Given the description of an element on the screen output the (x, y) to click on. 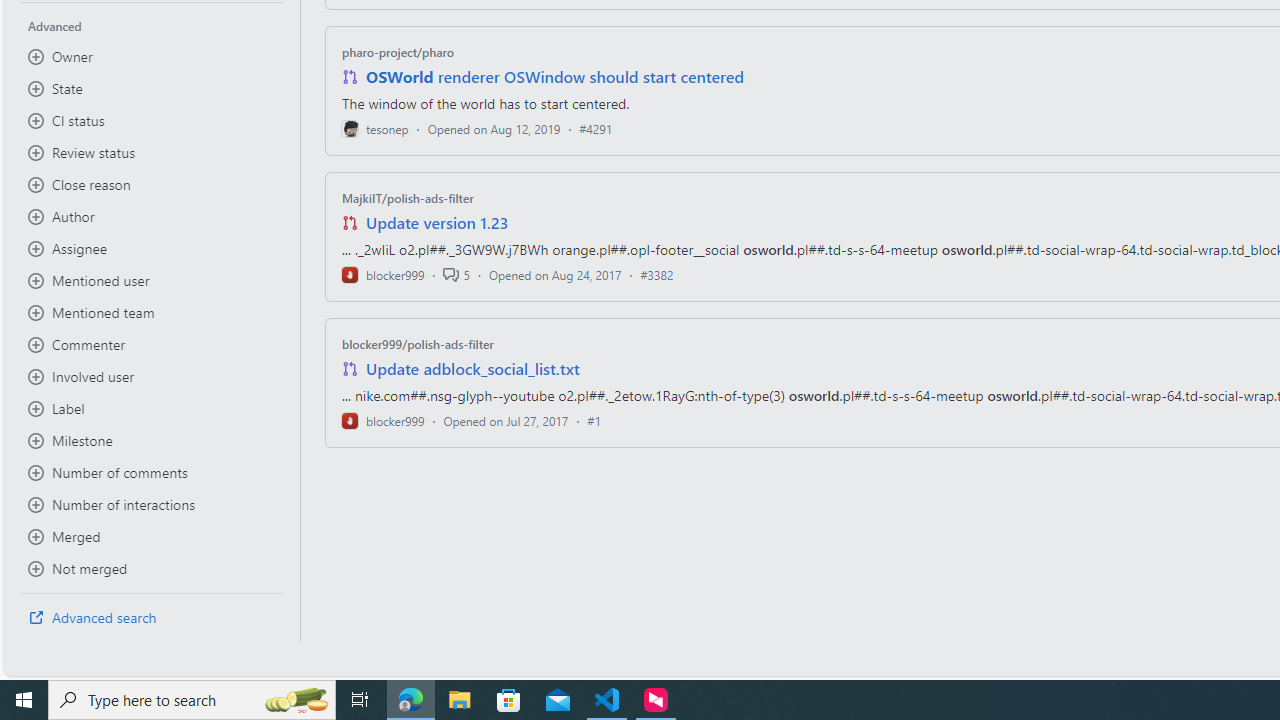
Advanced search (152, 617)
5 (455, 273)
tesonep (375, 128)
Update version 1.23 (437, 222)
#1 (594, 420)
#1 (594, 420)
